Given the description of an element on the screen output the (x, y) to click on. 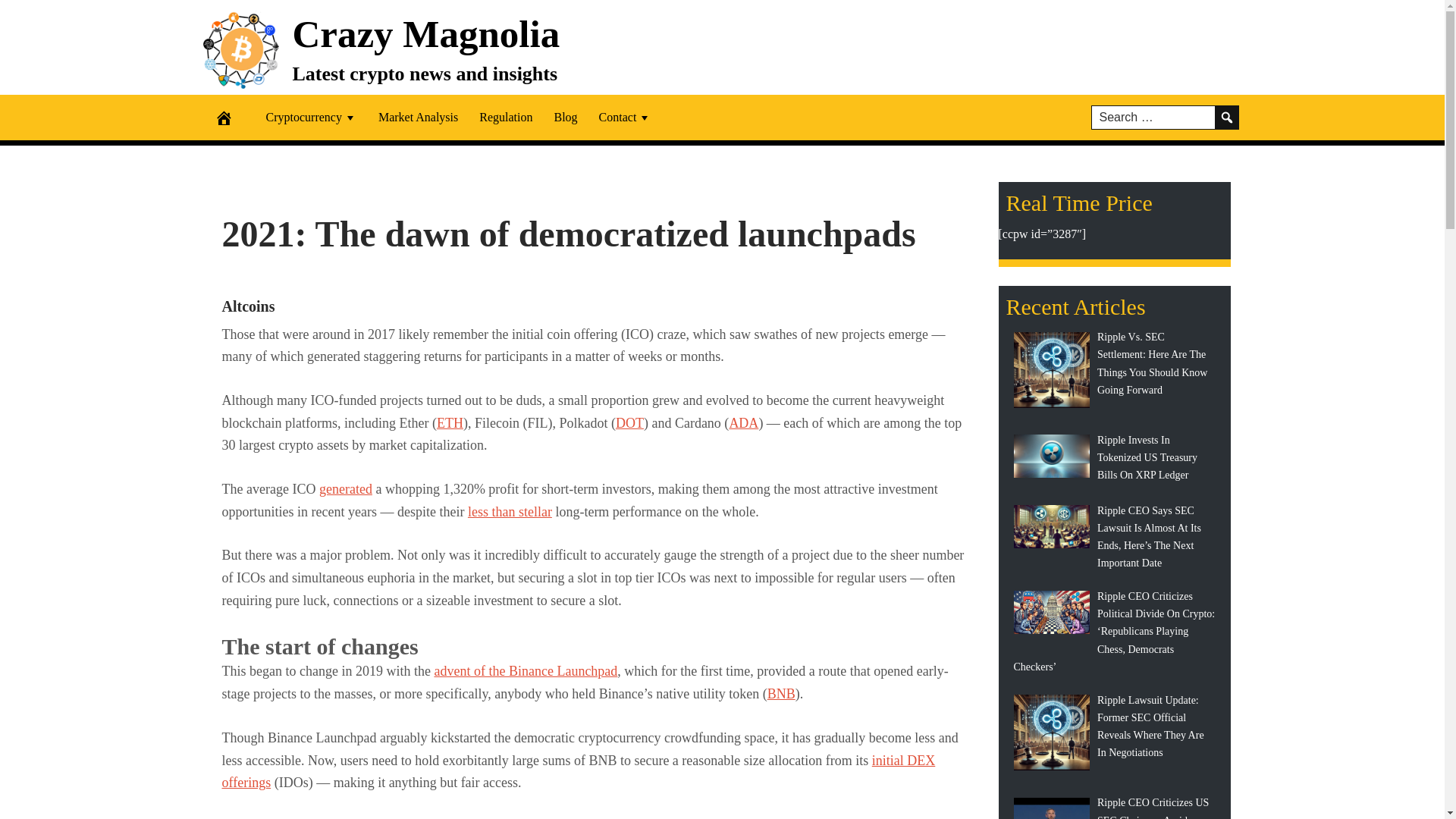
Blog (565, 117)
Regulation (505, 117)
Altcoins (248, 306)
Crazy Magnolia (426, 33)
Market Analysis (418, 117)
Cryptocurrency (310, 117)
Contact (625, 117)
